Given the description of an element on the screen output the (x, y) to click on. 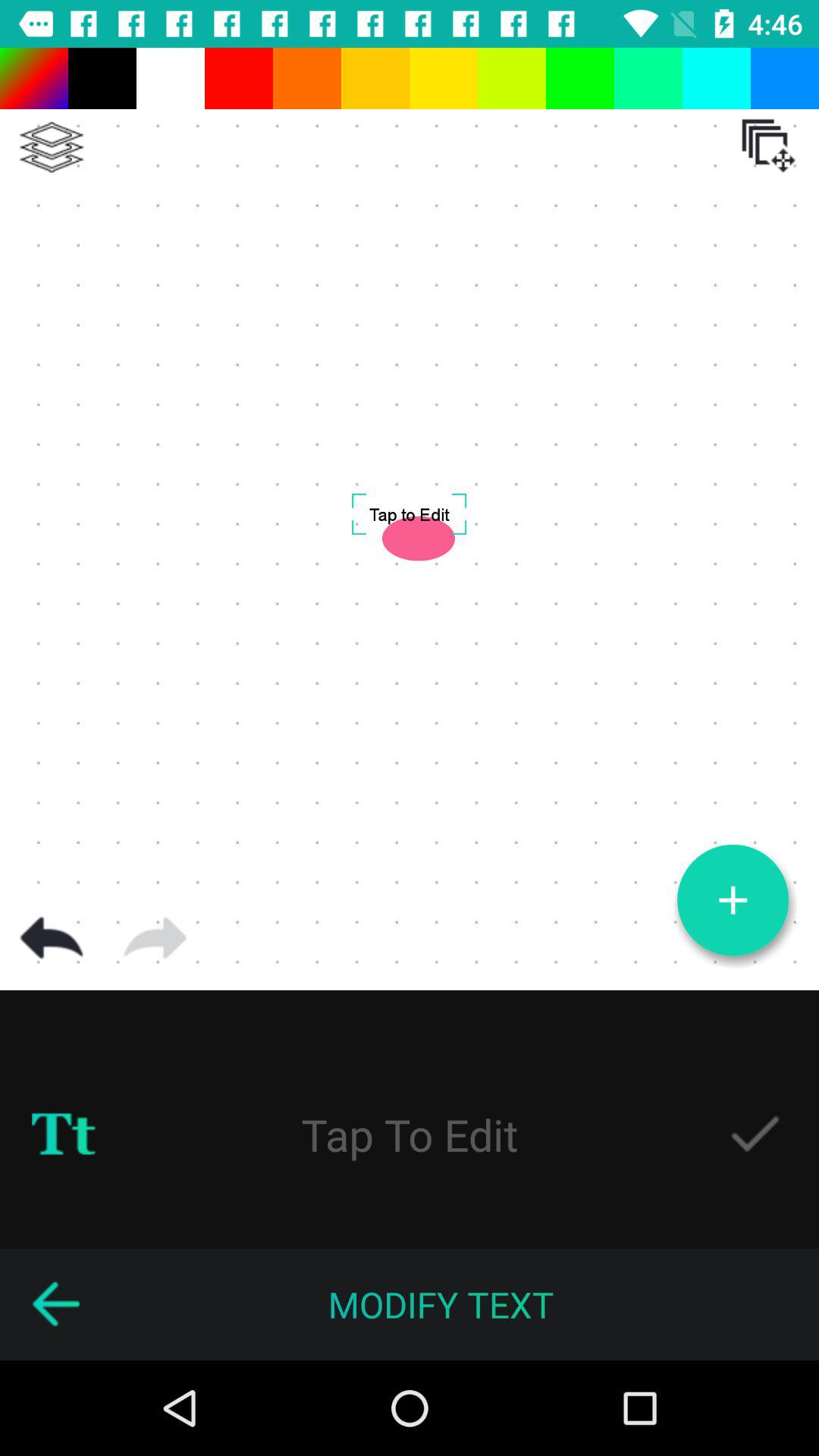
save design (755, 1134)
